Given the description of an element on the screen output the (x, y) to click on. 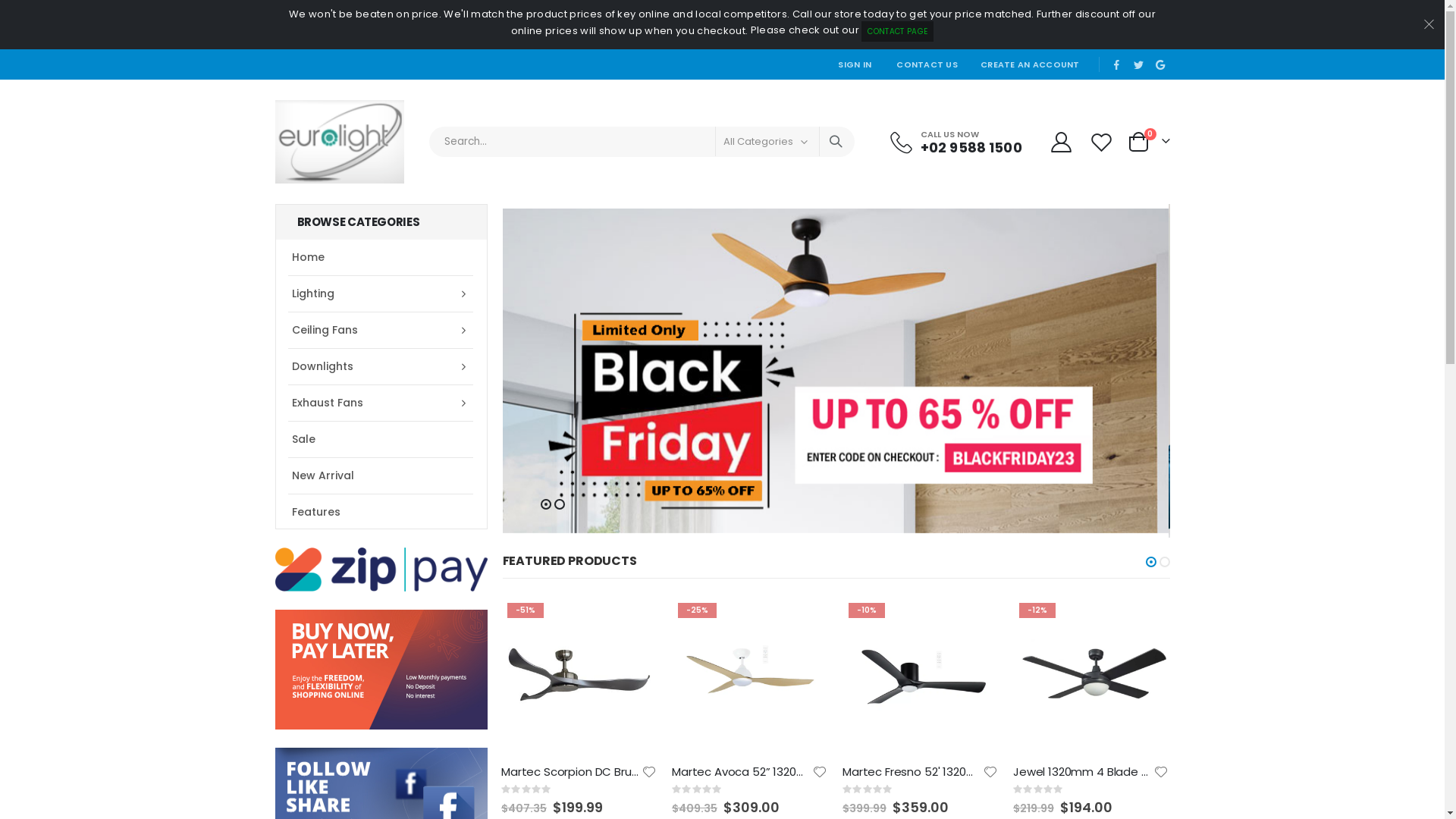
Features Element type: text (380, 511)
Add to Wish List Element type: hover (989, 771)
Facebook Element type: hover (1116, 64)
Search Element type: hover (835, 141)
Jewel 1320mm 4 Blade Ceiling Fan Element type: text (1083, 771)
Wishlist Element type: hover (1102, 141)
Add to Wish List Element type: hover (1160, 771)
Home Element type: text (380, 256)
CONTACT US Element type: text (926, 64)
Add to Wish List Element type: hover (819, 771)
Downlights Element type: text (380, 365)
Twitter Element type: hover (1138, 64)
Google Element type: hover (1160, 64)
SIGN IN Element type: text (854, 64)
Add to Wish List Element type: hover (648, 771)
Lighting Element type: text (380, 292)
Exhaust Fans Element type: text (380, 402)
My Account Element type: hover (1061, 141)
Cart
0
items Element type: text (1148, 141)
Sale Element type: text (380, 438)
New Arrival Element type: text (380, 474)
CREATE AN ACCOUNT Element type: text (1030, 64)
Ceiling Fans Element type: text (380, 329)
CONTACT PAGE Element type: text (897, 31)
